Given the description of an element on the screen output the (x, y) to click on. 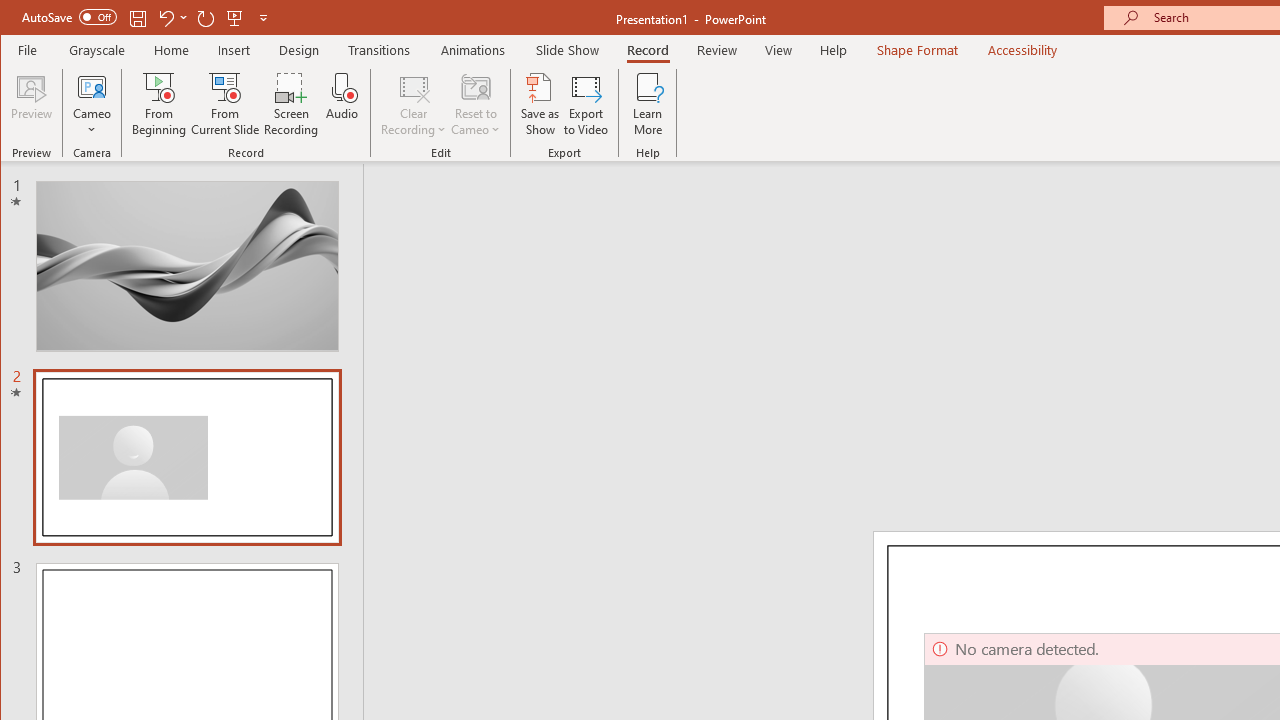
Reset to Cameo (476, 104)
Learn More (648, 104)
